Given the description of an element on the screen output the (x, y) to click on. 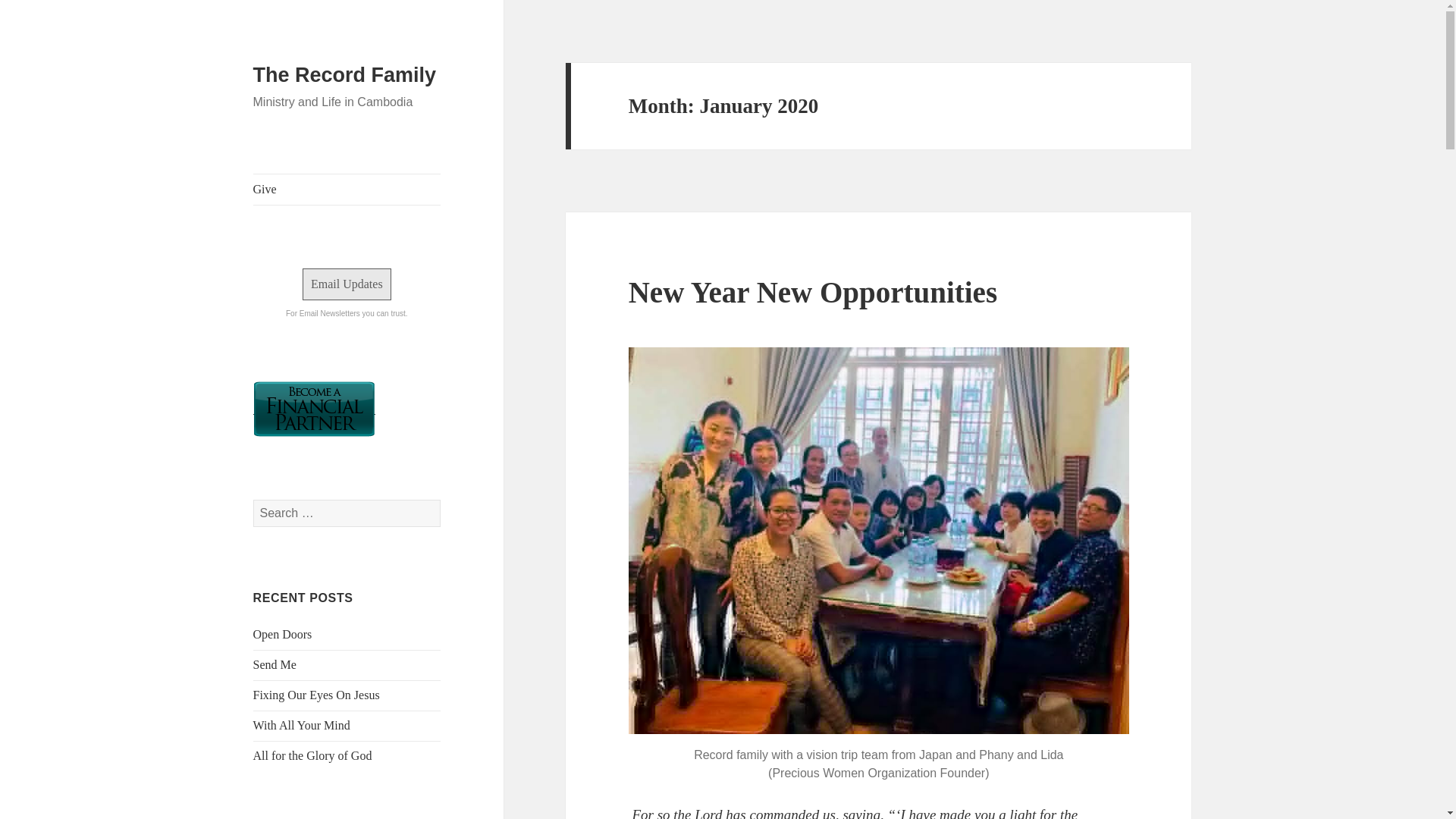
Fixing Our Eyes On Jesus (316, 694)
With All Your Mind (301, 725)
Send Me (275, 664)
Email Updates (346, 284)
All for the Glory of God (312, 755)
Open Doors (283, 634)
Give (347, 189)
